Given the description of an element on the screen output the (x, y) to click on. 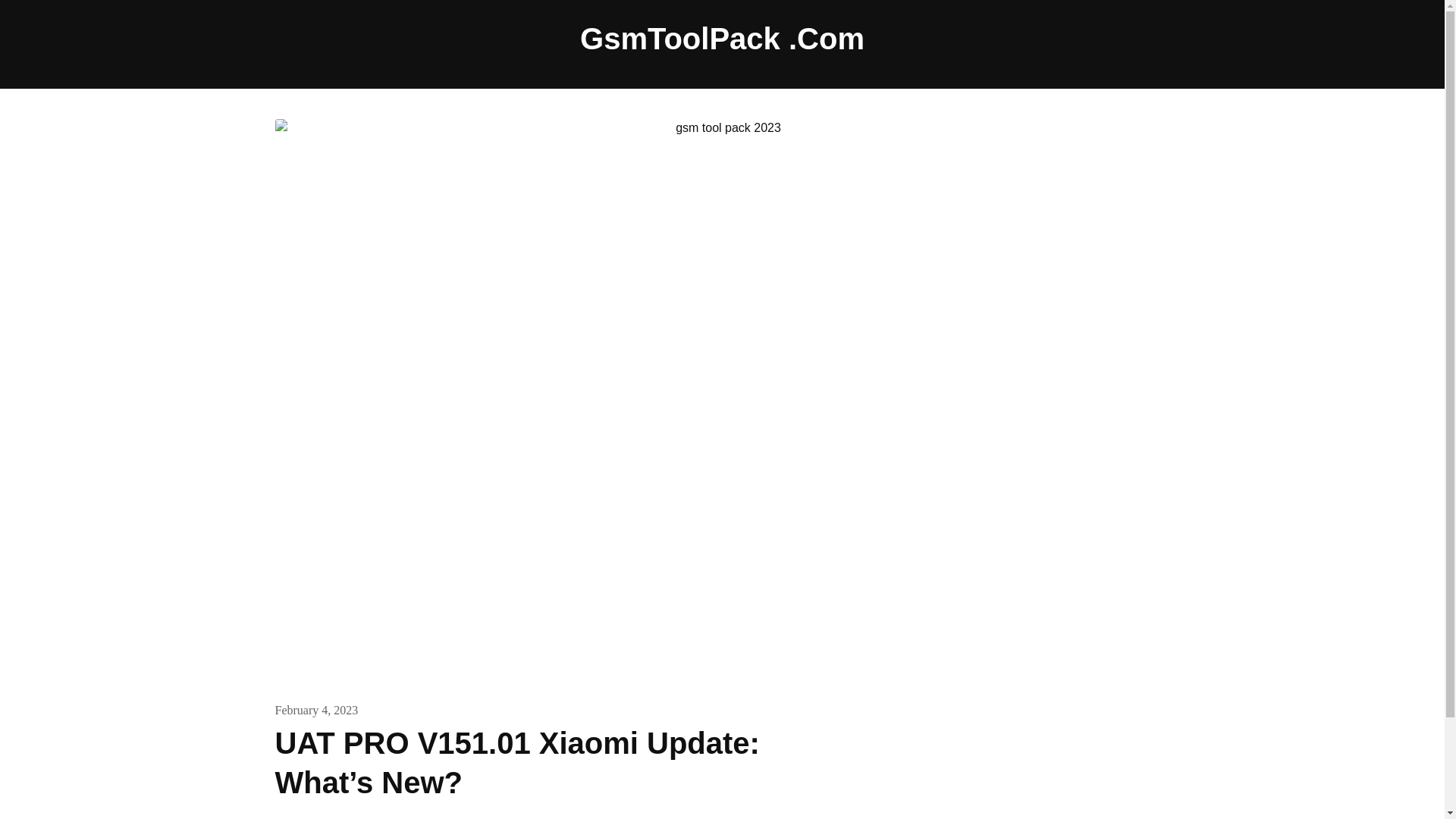
GsmToolPack .Com (722, 38)
February 4, 2023 (316, 709)
